Given the description of an element on the screen output the (x, y) to click on. 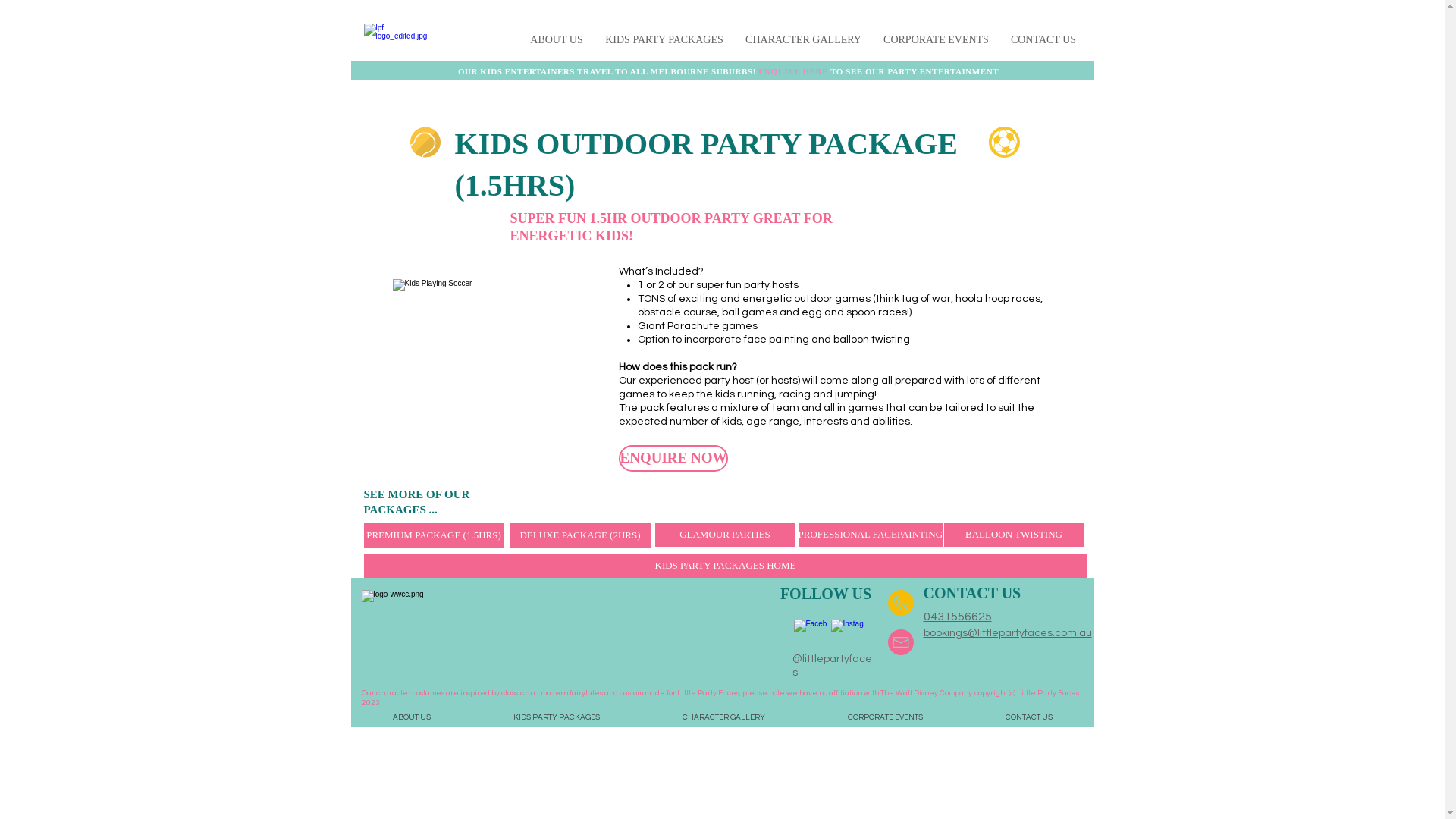
@littlepartyfaces Element type: text (831, 665)
KIDS PARTY PACKAGES HOME Element type: text (725, 565)
0 Element type: text (926, 615)
431556625 Element type: text (960, 615)
BALLOON TWISTING Element type: text (1013, 534)
CORPORATE EVENTS Element type: text (885, 717)
CONTACT US Element type: text (1029, 717)
GLAMOUR PARTIES Element type: text (725, 534)
CHARACTER GALLERY Element type: text (803, 39)
PROFESSIONAL FACEPAINTING Element type: text (869, 534)
ABOUT US Element type: text (555, 39)
CONTACT US Element type: text (1042, 39)
ENQUIRE NOW Element type: text (673, 458)
bookings@littlepartyfaces.com.au Element type: text (1007, 632)
DELUXE PACKAGE (2HRS) Element type: text (579, 535)
KIDS PARTY PACKAGES Element type: text (555, 717)
CORPORATE EVENTS Element type: text (935, 39)
CHARACTER GALLERY Element type: text (723, 717)
PREMIUM PACKAGE (1.5HRS) Element type: text (434, 535)
IMG_0565_edited.JPG Element type: hover (494, 359)
ABOUT US Element type: text (410, 717)
KIDS PARTY PACKAGES Element type: text (664, 39)
